Given the description of an element on the screen output the (x, y) to click on. 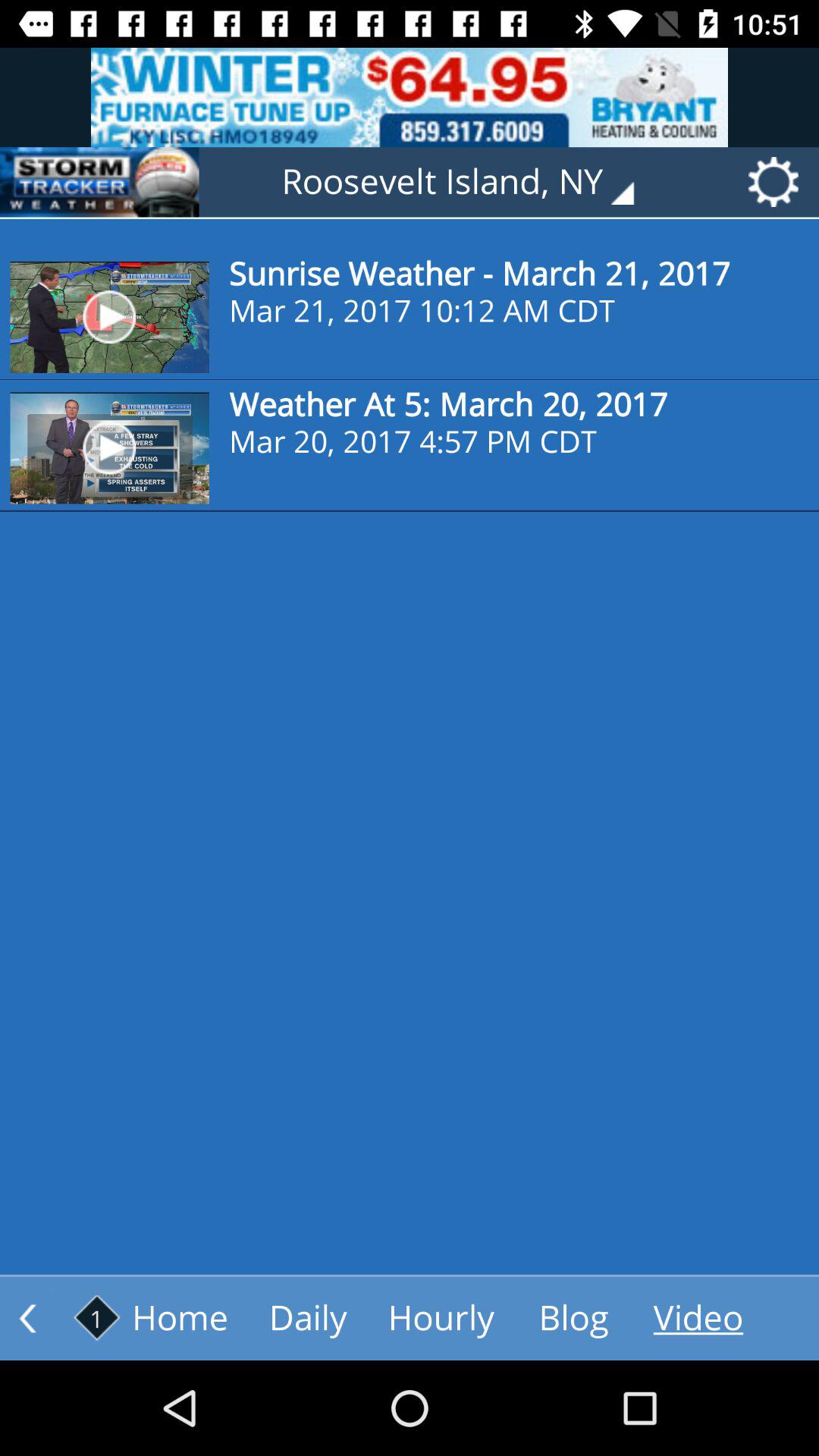
go back (27, 1318)
